Given the description of an element on the screen output the (x, y) to click on. 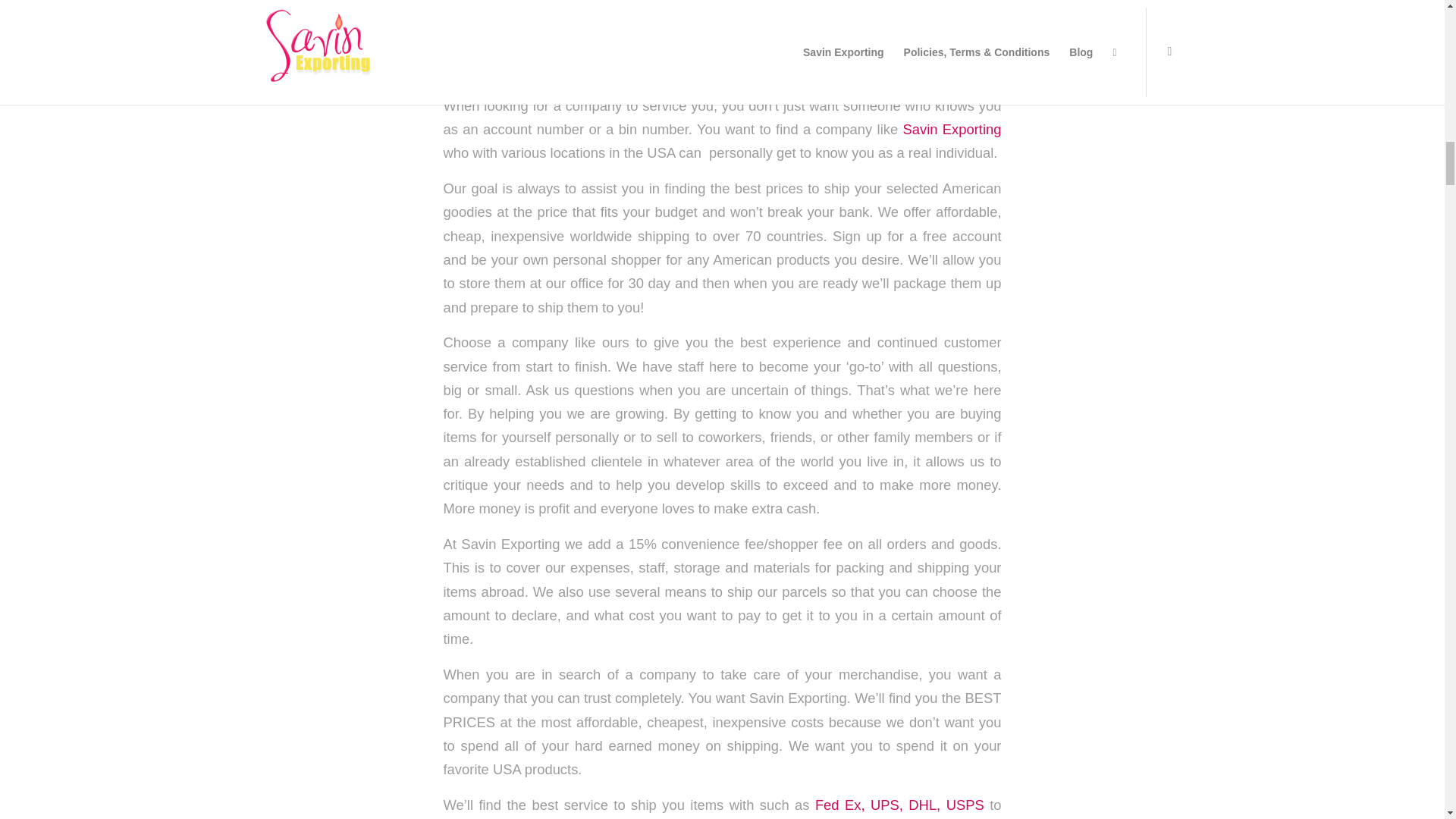
Fed Ex, UPS, DHL, USPS (899, 804)
Savin Exporting (951, 129)
